Given the description of an element on the screen output the (x, y) to click on. 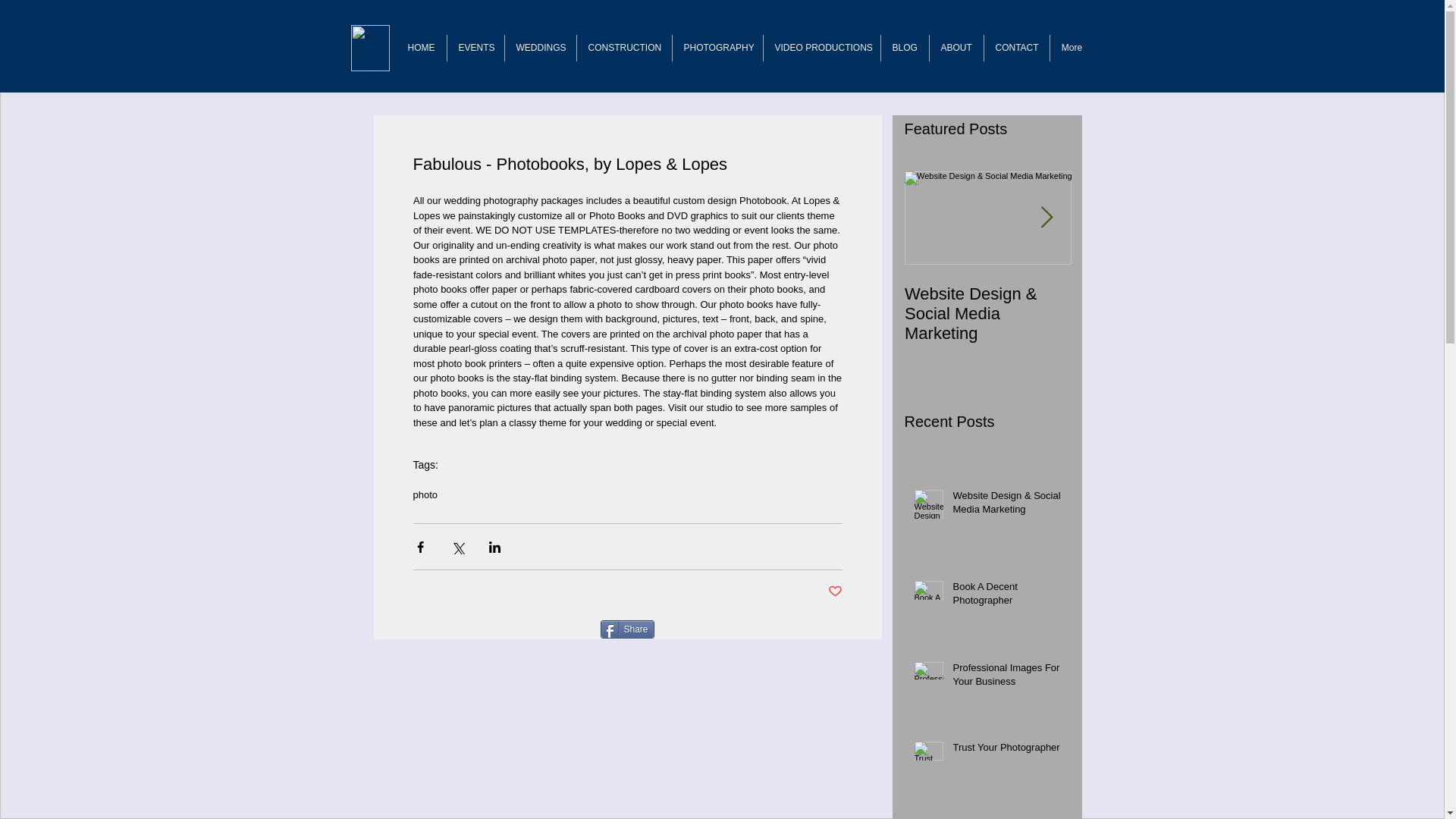
EVENTS (474, 48)
Book A Decent Photographer (1153, 303)
Trust Your Photographer (1006, 750)
HOME (420, 48)
VIDEO PRODUCTIONS (820, 48)
PHOTOGRAPHY (716, 48)
CONTACT (1016, 48)
Share (626, 628)
CONSTRUCTION (623, 48)
BLOG (904, 48)
